Given the description of an element on the screen output the (x, y) to click on. 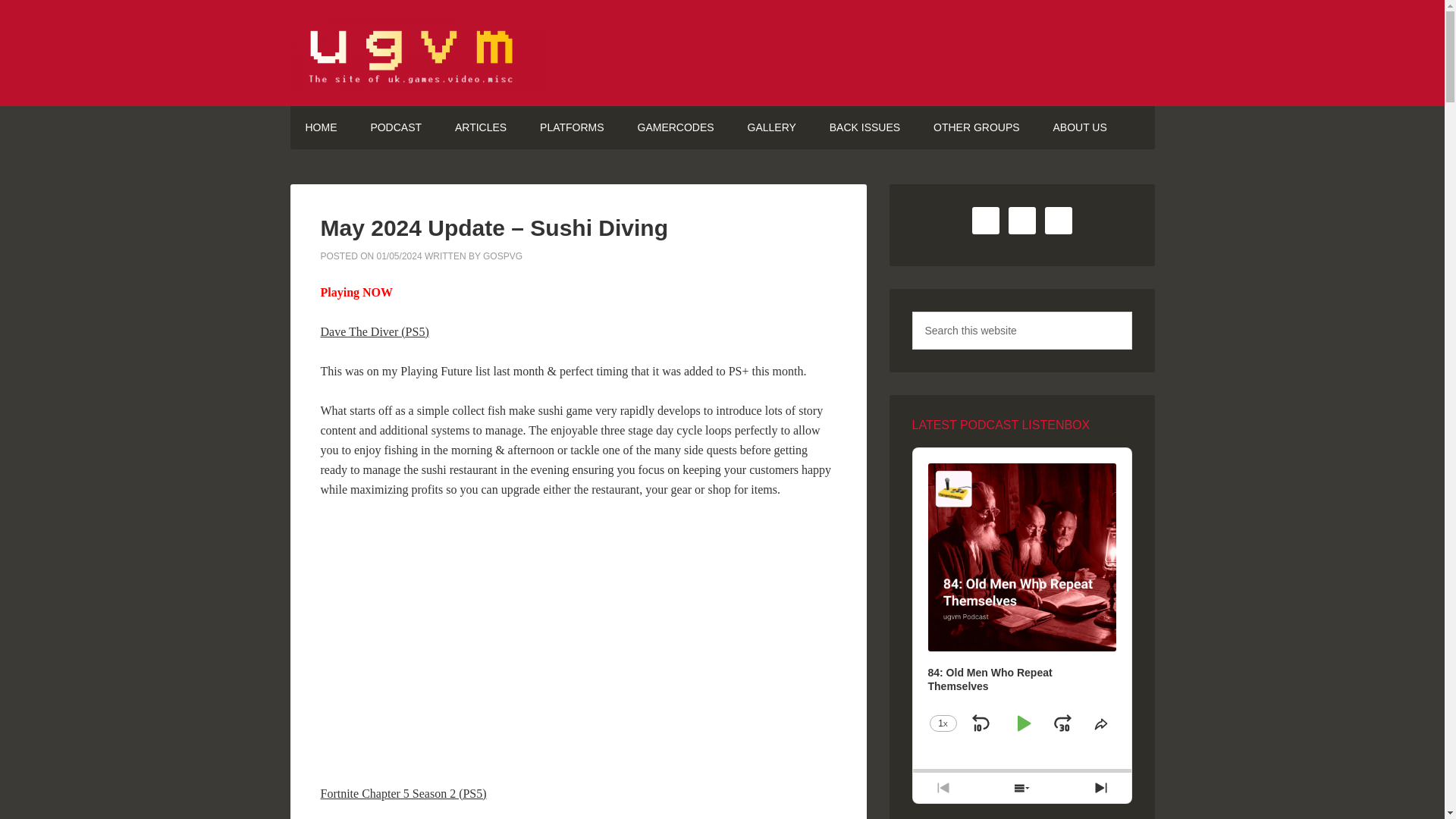
ARTICLES (480, 127)
YouTube video player (532, 637)
OTHER GROUPS (976, 127)
GOSPVG (502, 255)
BACK ISSUES (864, 127)
GAMERCODES (675, 127)
GALLERY (771, 127)
PODCAST (395, 127)
UGVM (721, 52)
PLATFORMS (572, 127)
0 (1021, 771)
ABOUT US (1078, 127)
HOME (320, 127)
